Given the description of an element on the screen output the (x, y) to click on. 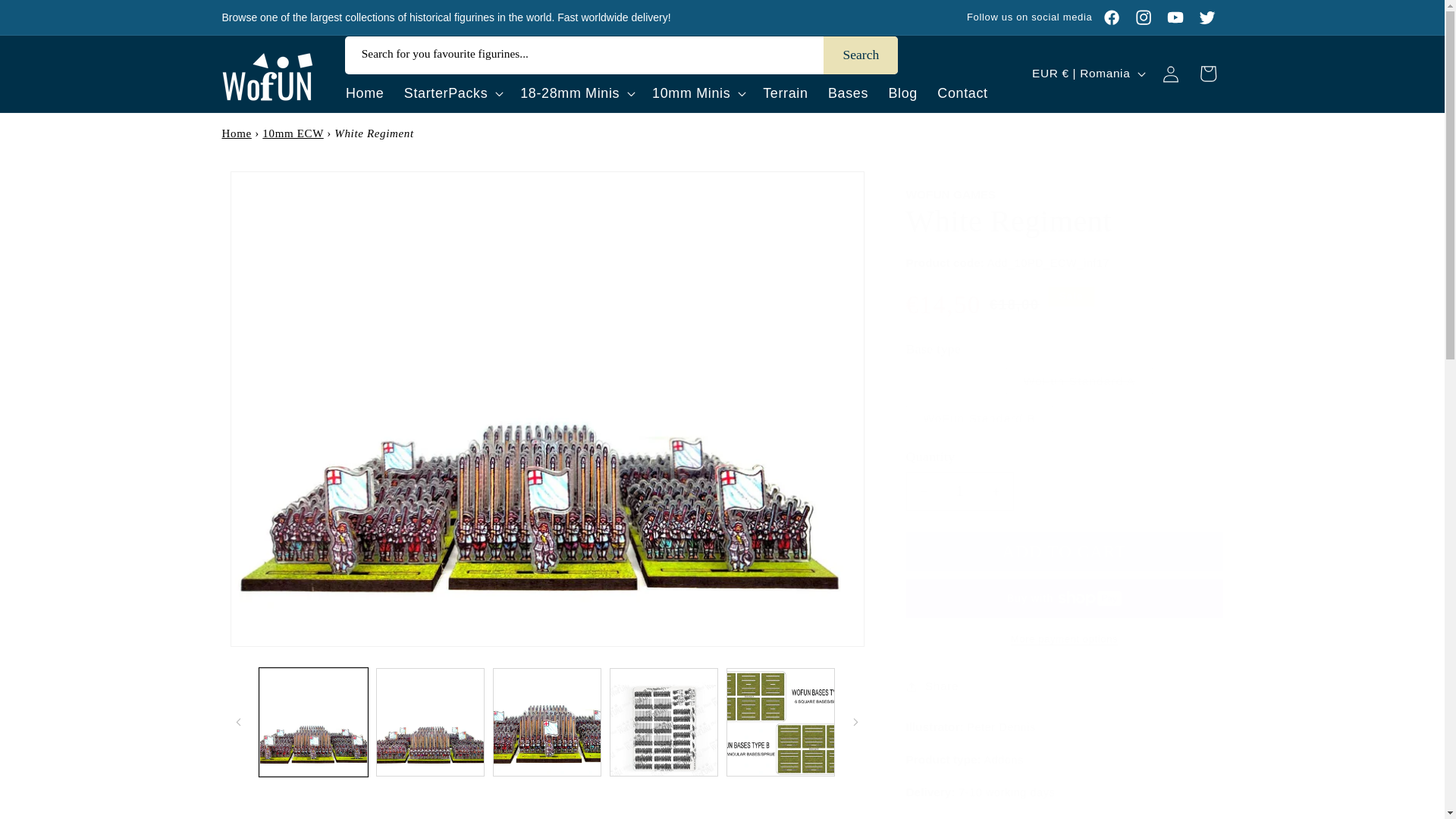
Facebook (1111, 17)
1 (959, 491)
YouTube (1174, 17)
Instagram (1142, 17)
Skip to content (50, 19)
Twitter (1207, 17)
Home (235, 133)
